Given the description of an element on the screen output the (x, y) to click on. 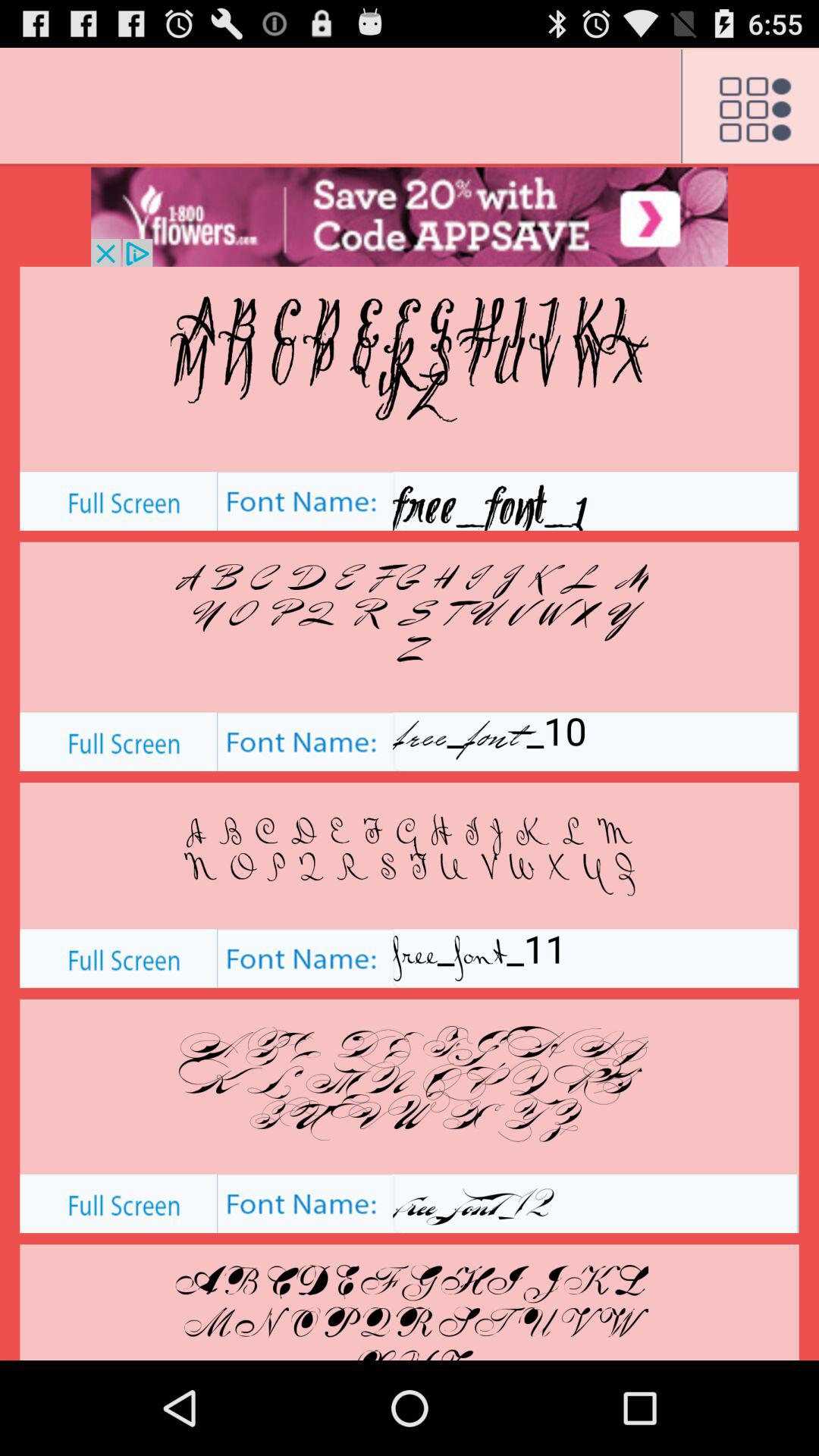
advertisement page (409, 216)
